Given the description of an element on the screen output the (x, y) to click on. 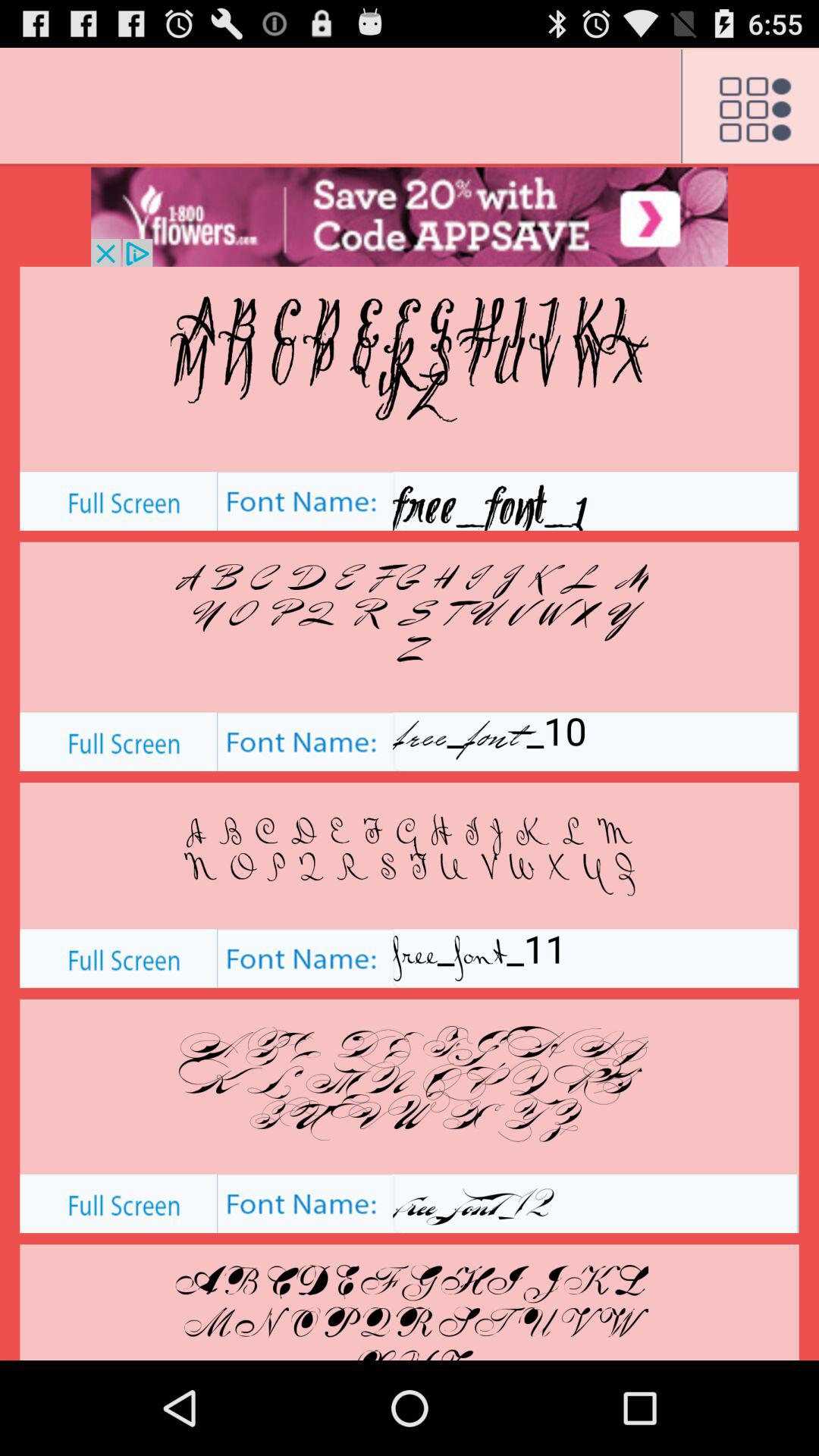
advertisement page (409, 216)
